Given the description of an element on the screen output the (x, y) to click on. 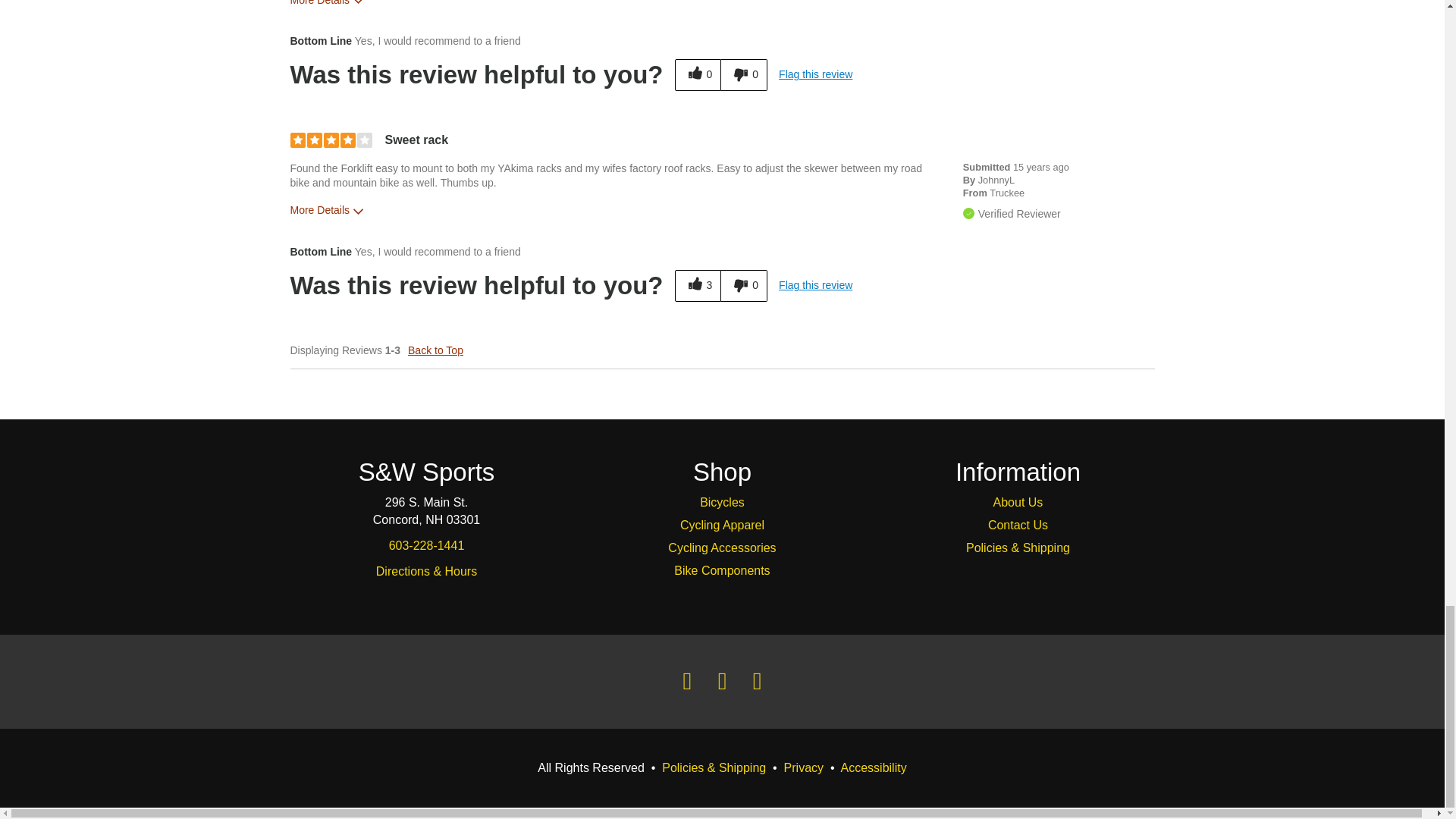
Verified Buyer (968, 213)
